Given the description of an element on the screen output the (x, y) to click on. 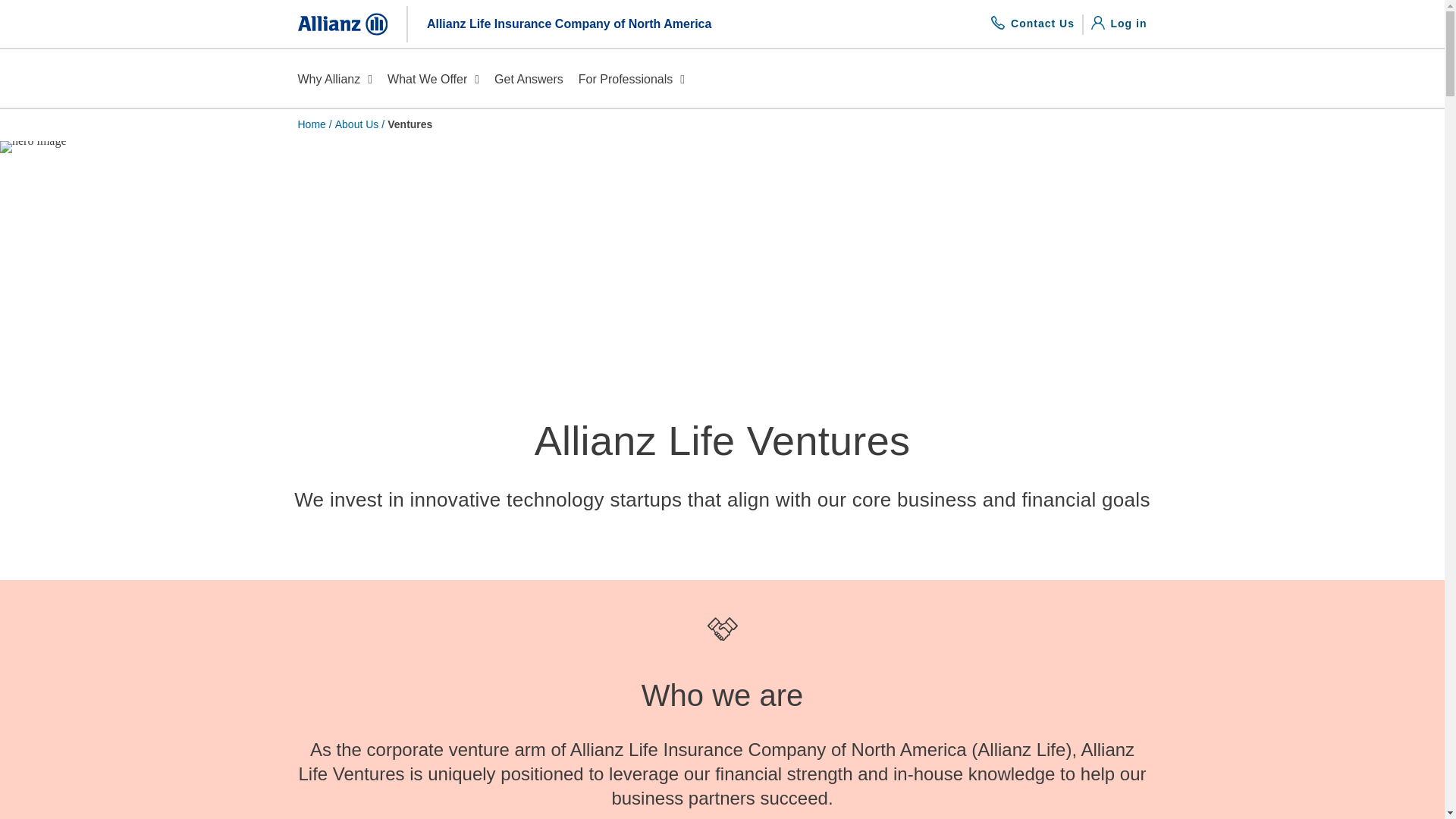
What We Offer (433, 80)
What We Offer (1118, 22)
UserUser (433, 80)
Why Allianz (1097, 21)
ContactContact (334, 80)
Why Allianz (1032, 22)
